Given the description of an element on the screen output the (x, y) to click on. 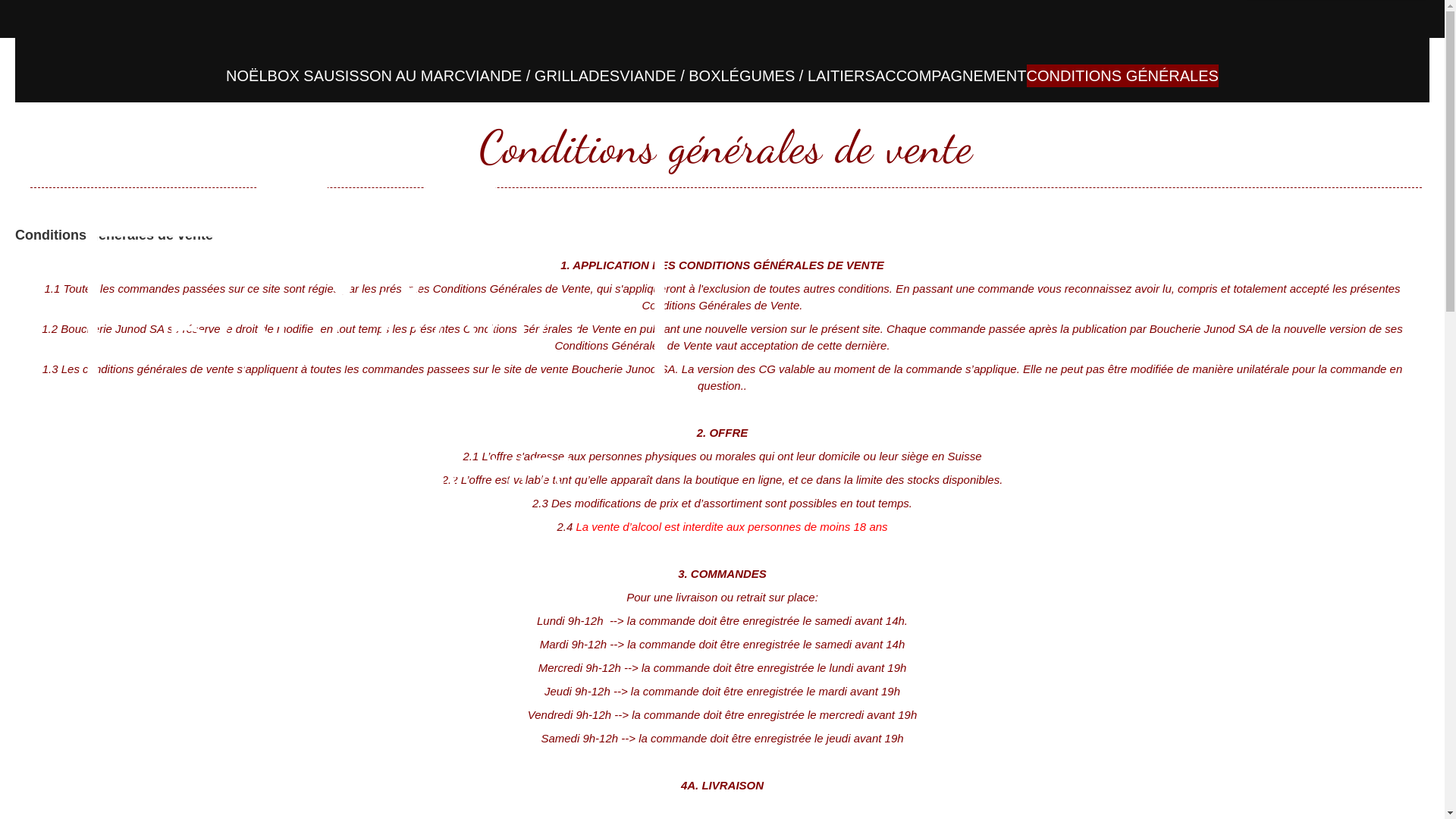
VIANDE / GRILLADES Element type: text (542, 75)
BOX SAUSISSON AU MARC Element type: text (366, 75)
ACCOMPAGNEMENT Element type: text (950, 75)
VIANDE / BOX Element type: text (669, 75)
